Given the description of an element on the screen output the (x, y) to click on. 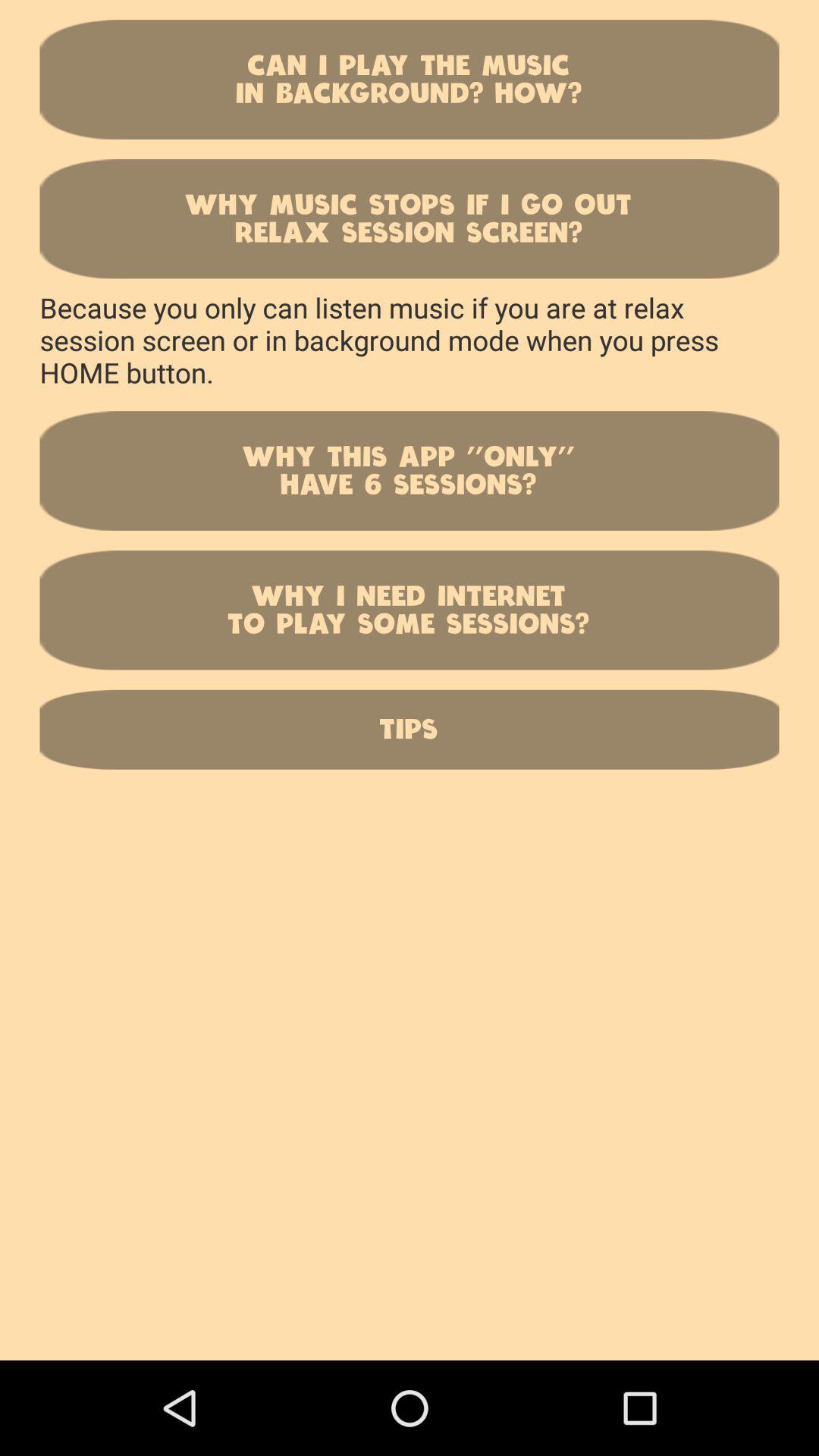
choose why music stops icon (409, 218)
